Given the description of an element on the screen output the (x, y) to click on. 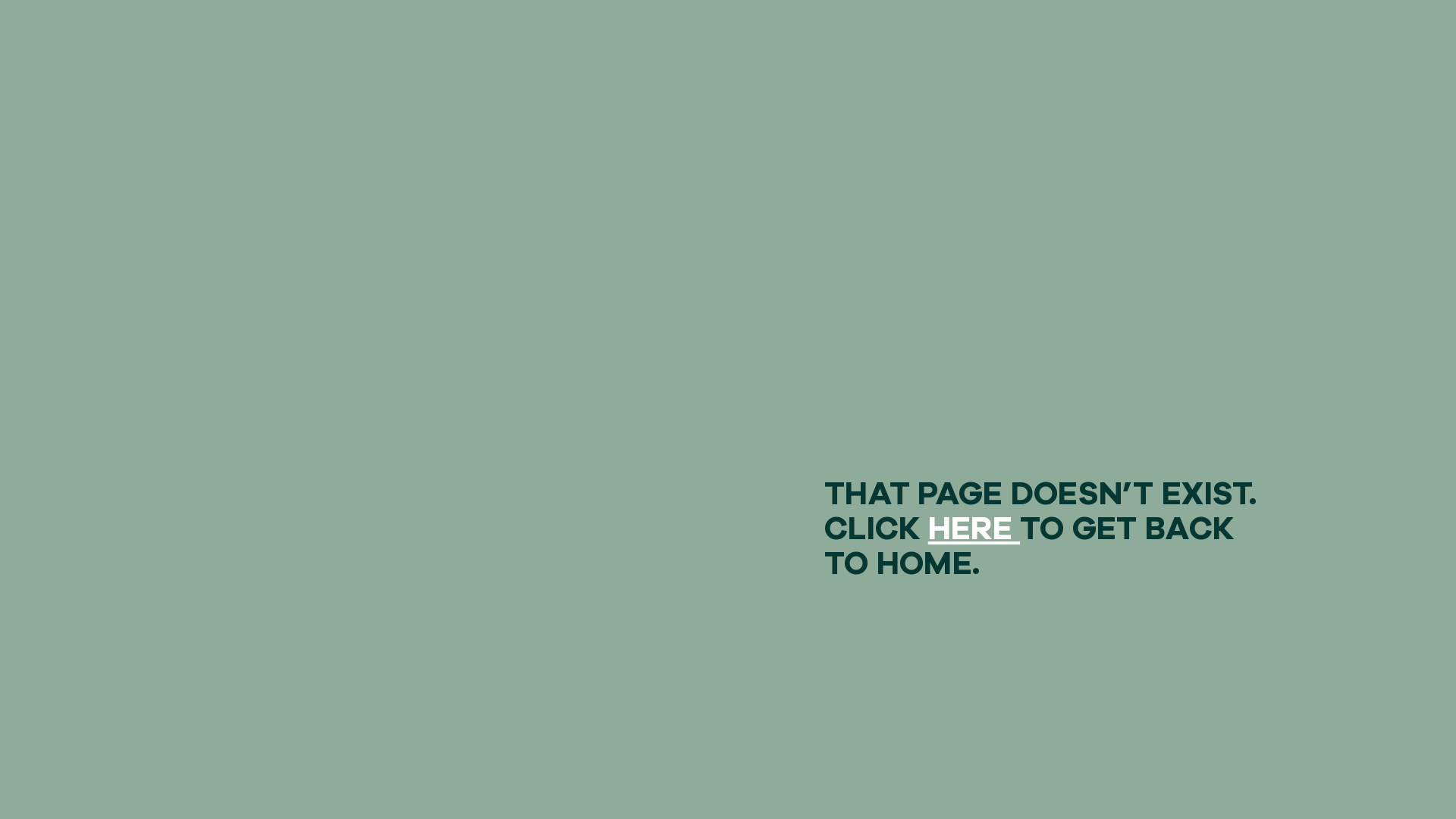
HERE Element type: text (973, 528)
